Given the description of an element on the screen output the (x, y) to click on. 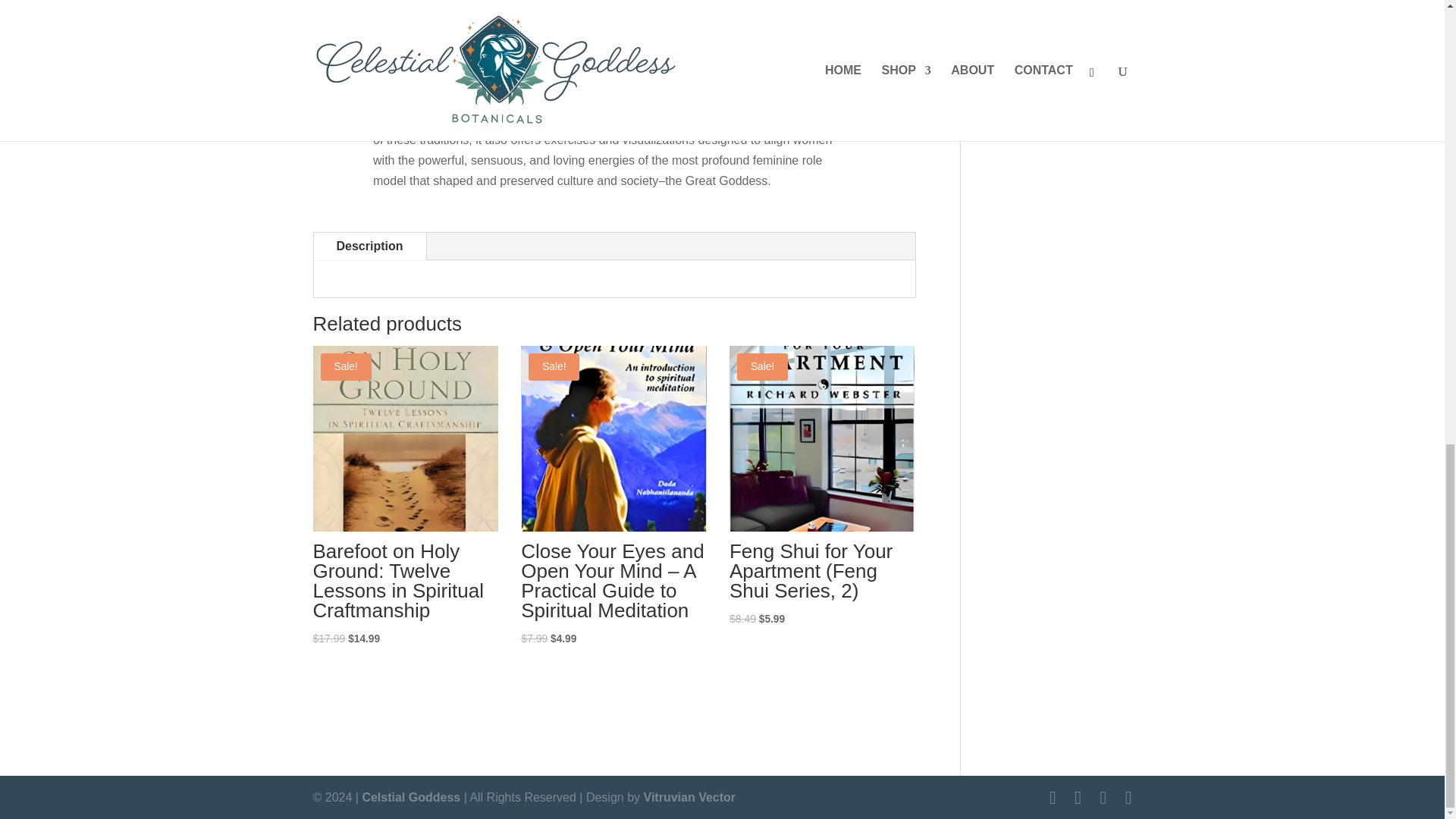
Celstial Goddess (410, 797)
Vitruvian Vector (689, 797)
Description (370, 245)
